Given the description of an element on the screen output the (x, y) to click on. 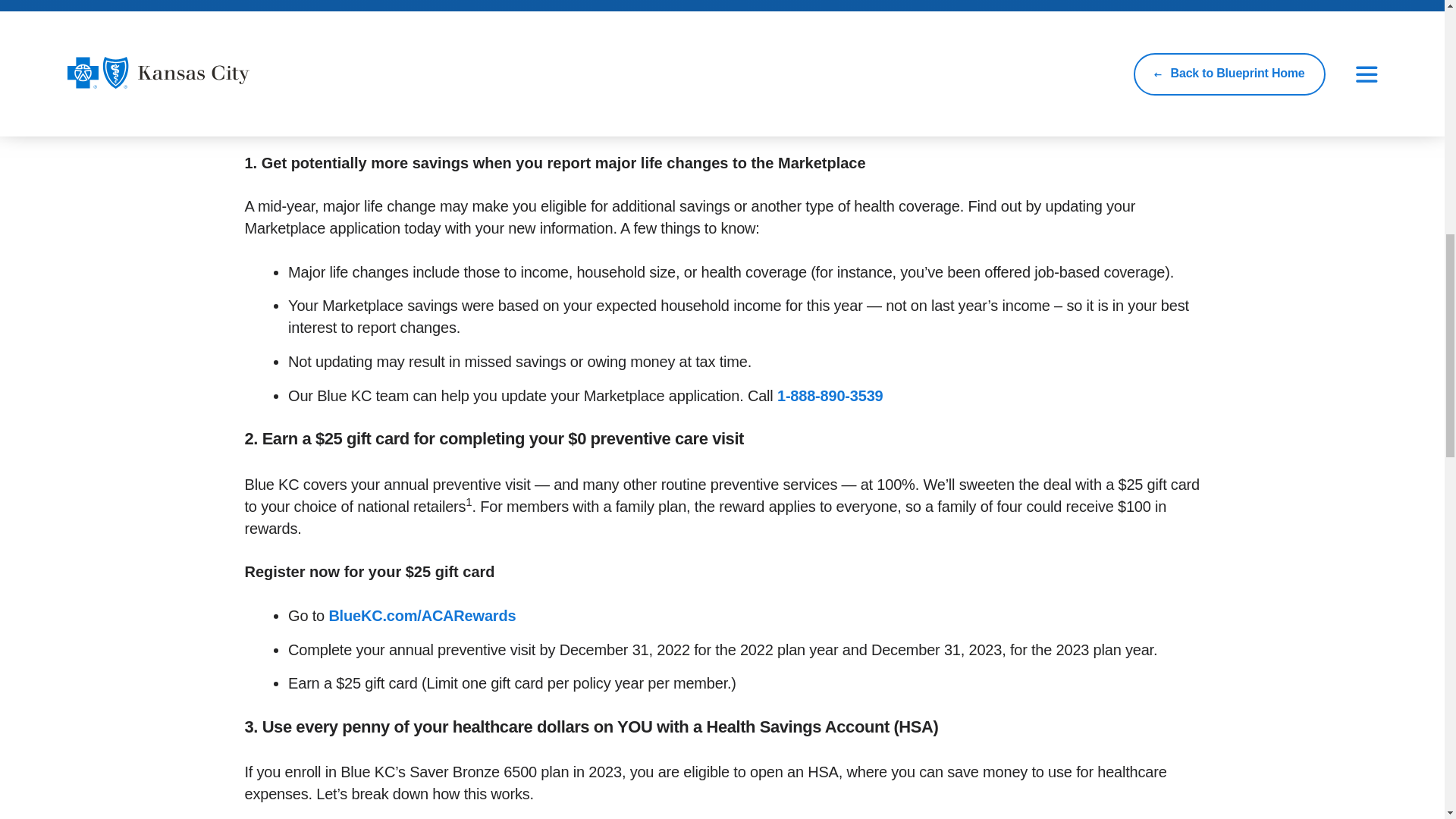
1-888-890-3539 (830, 395)
